Given the description of an element on the screen output the (x, y) to click on. 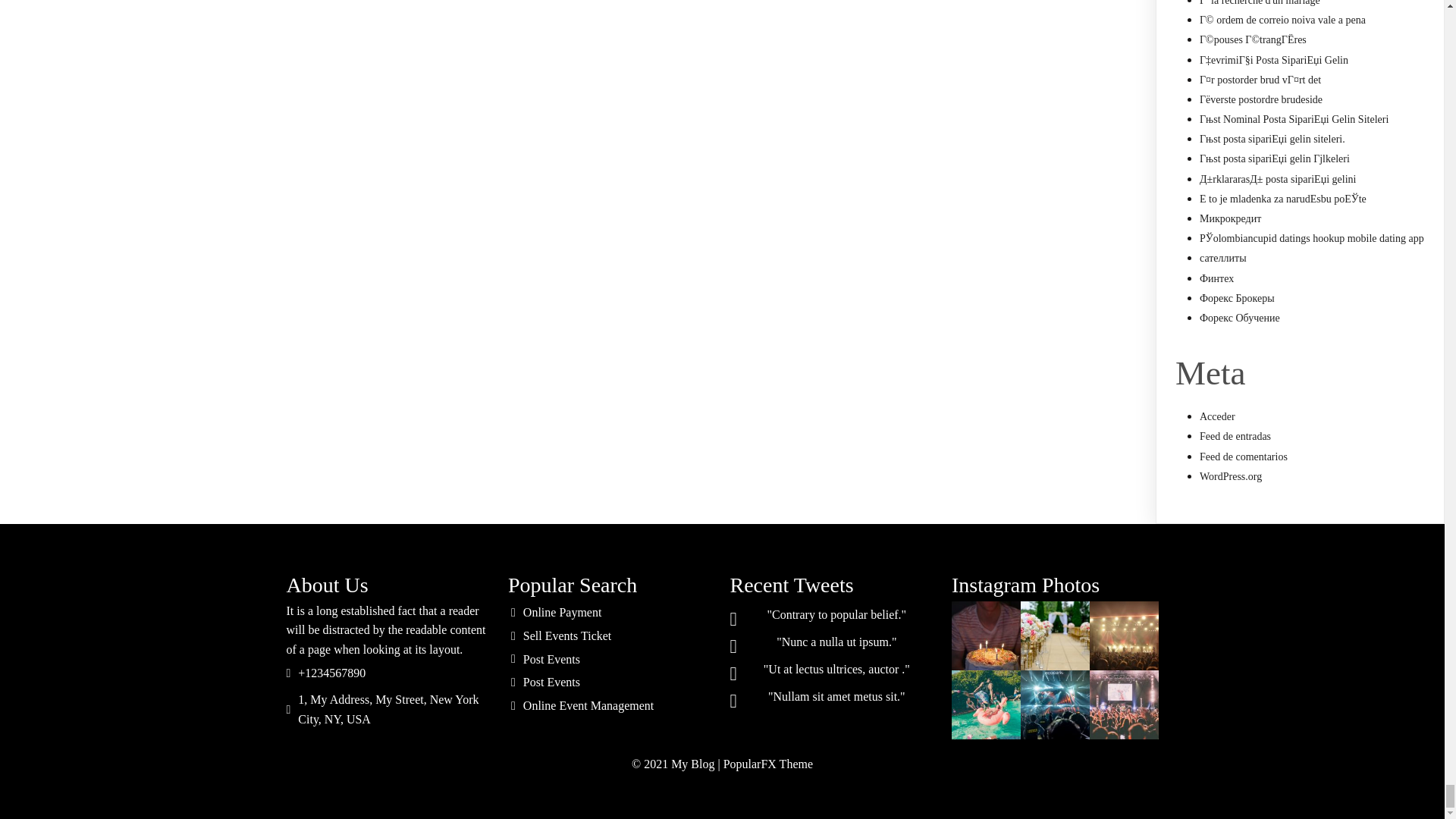
3 (1123, 635)
2 (1054, 635)
5 (1054, 704)
4 (986, 704)
6 (1123, 704)
1 (986, 635)
